Given the description of an element on the screen output the (x, y) to click on. 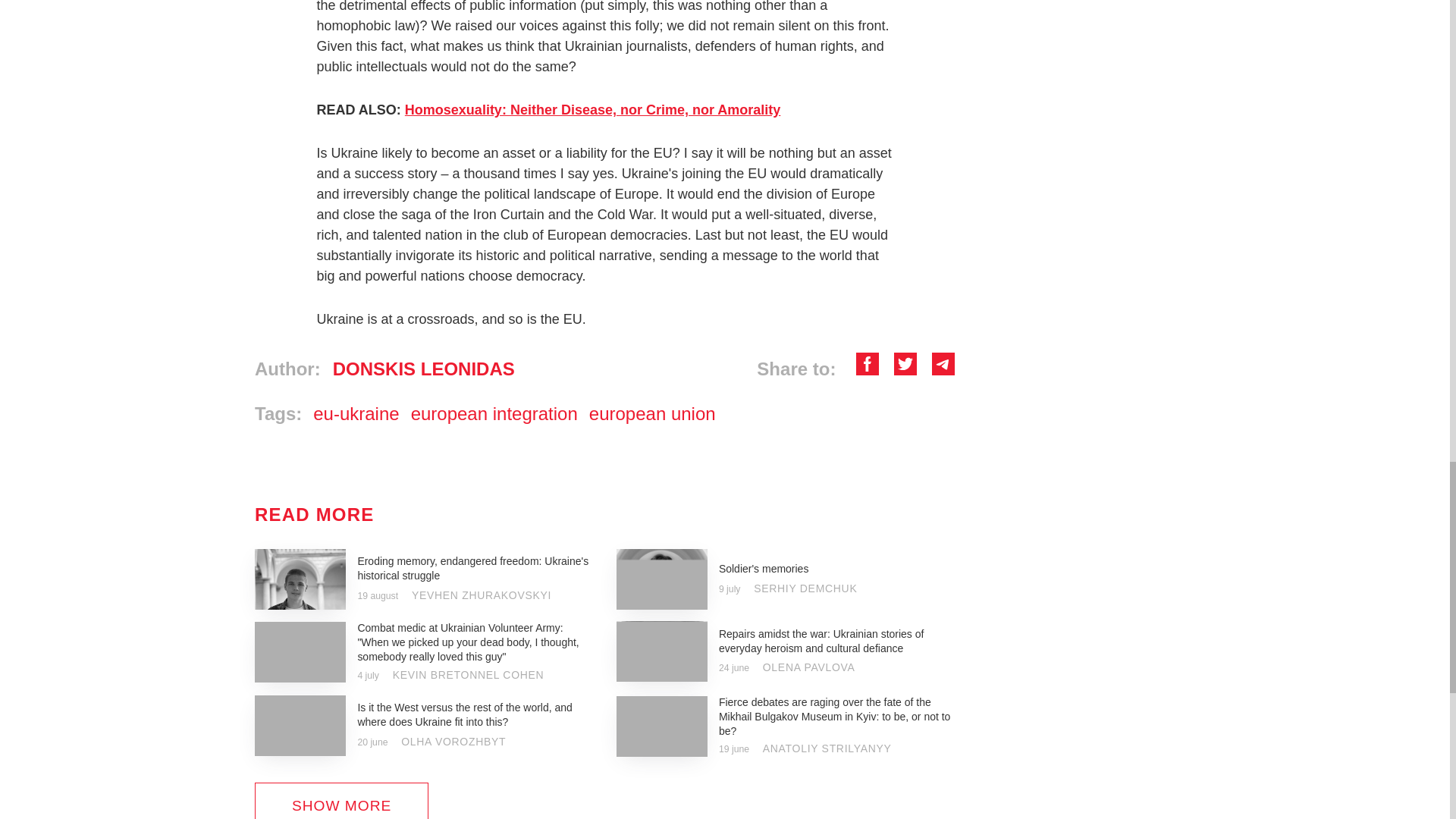
Twitter (905, 368)
Facebook (867, 368)
eu-ukraine (355, 413)
Homosexuality: Neither Disease, nor Crime, nor Amorality (592, 109)
